Given the description of an element on the screen output the (x, y) to click on. 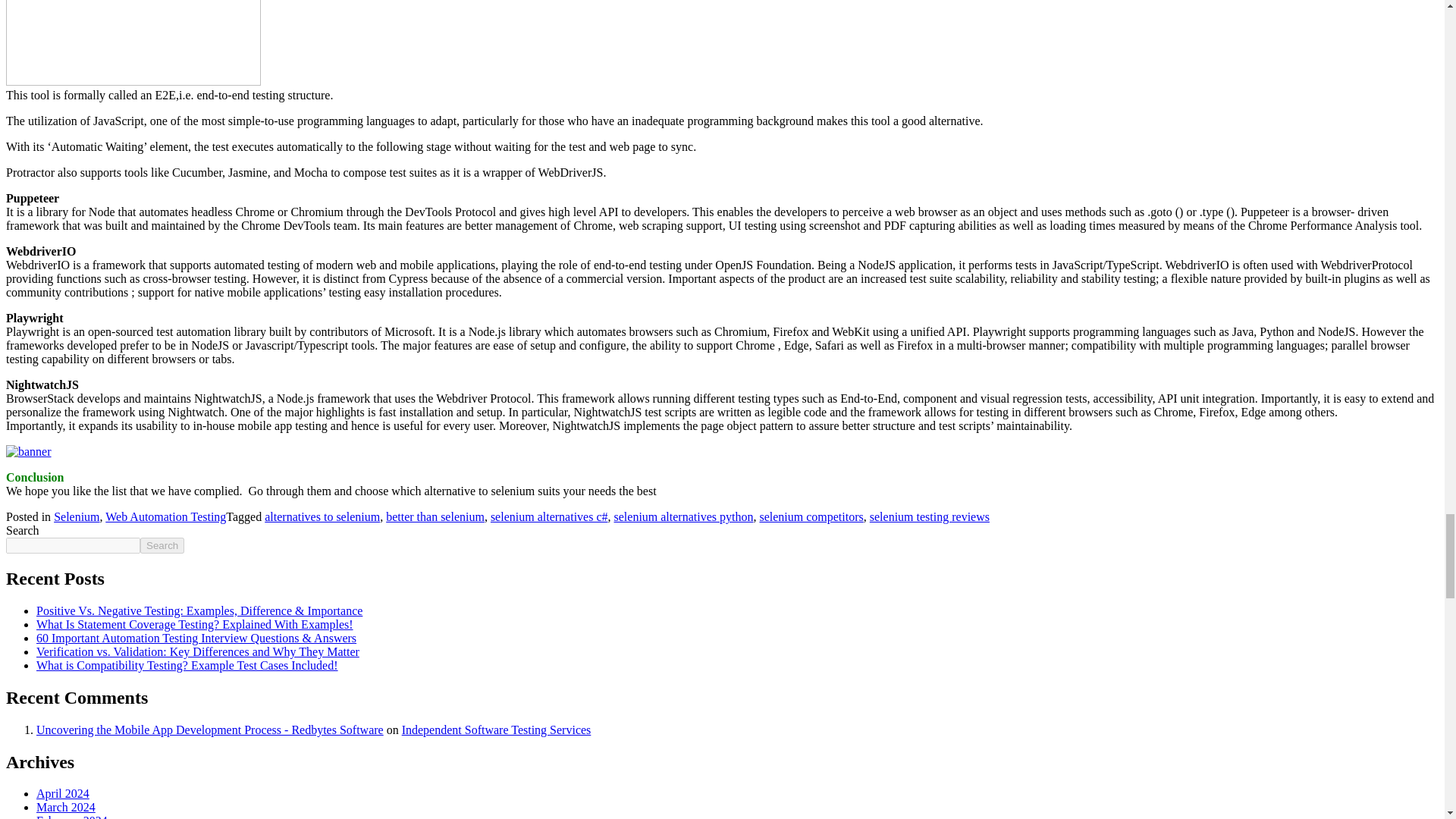
February 2024 (71, 816)
Selenium (76, 516)
Web Automation Testing (164, 516)
alternatives to selenium (322, 516)
What is Compatibility Testing? Example Test Cases Included! (186, 665)
selenium testing reviews (929, 516)
What Is Statement Coverage Testing? Explained With Examples! (194, 624)
better than selenium (434, 516)
selenium alternatives python (684, 516)
selenium competitors (810, 516)
April 2024 (62, 793)
Search (161, 545)
March 2024 (66, 807)
